Given the description of an element on the screen output the (x, y) to click on. 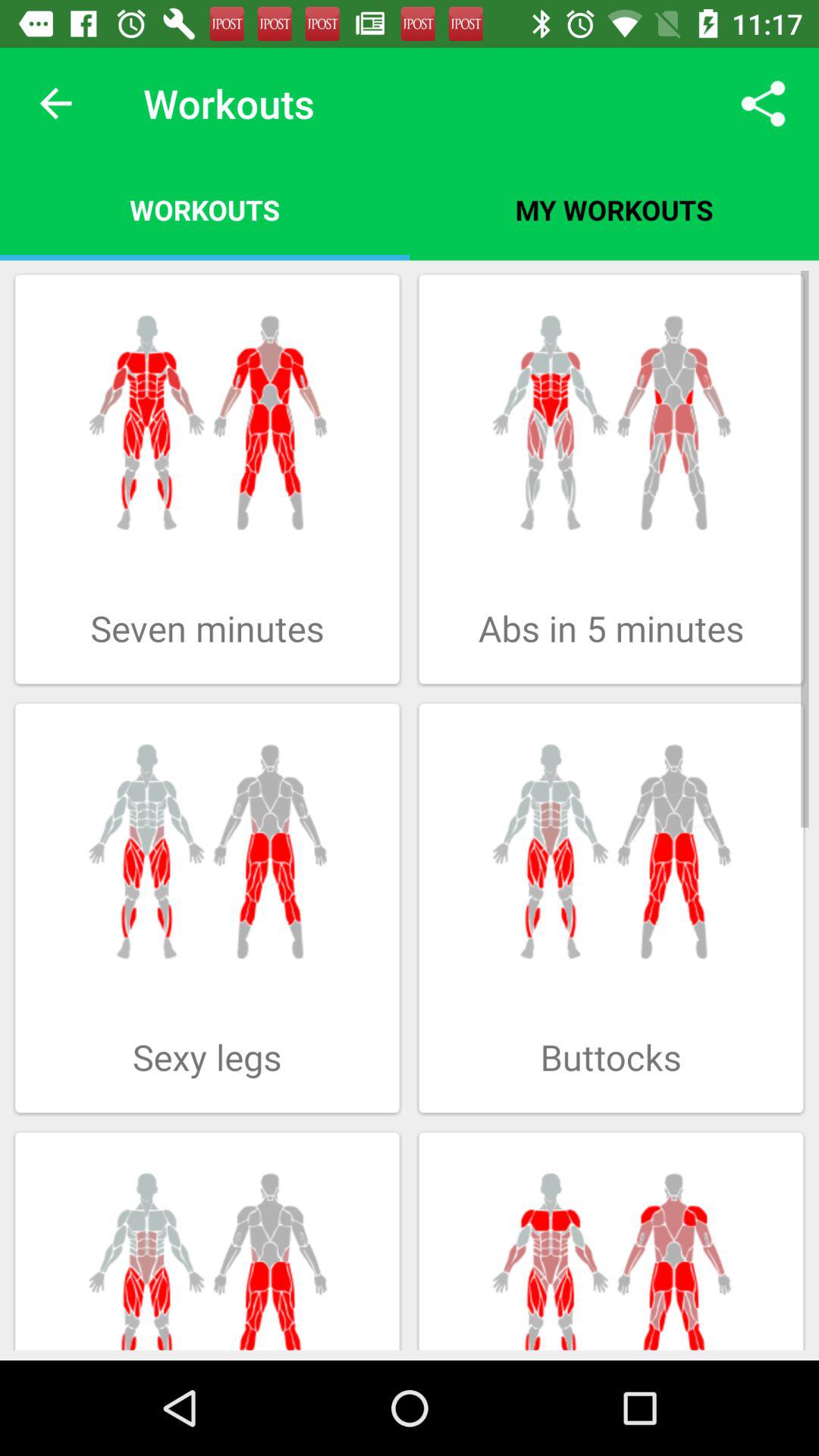
turn on the my workouts item (614, 209)
